Given the description of an element on the screen output the (x, y) to click on. 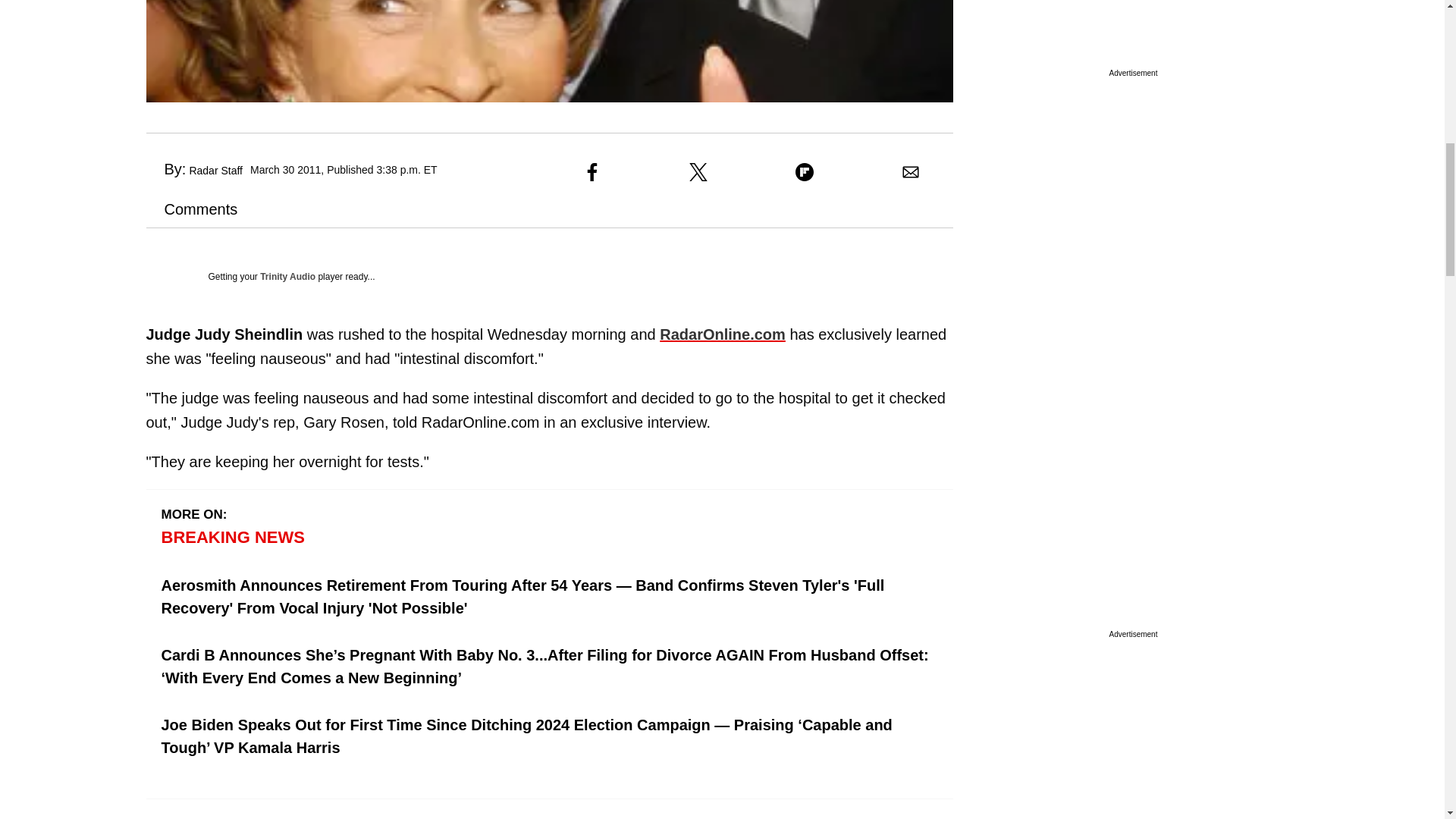
Radar Staff (216, 170)
Share to Email (909, 171)
Share to X (697, 171)
RadarOnline.com (722, 334)
Comments (191, 208)
Trinity Audio (287, 276)
Share to Flipboard (803, 171)
Share to Facebook (590, 171)
